Given the description of an element on the screen output the (x, y) to click on. 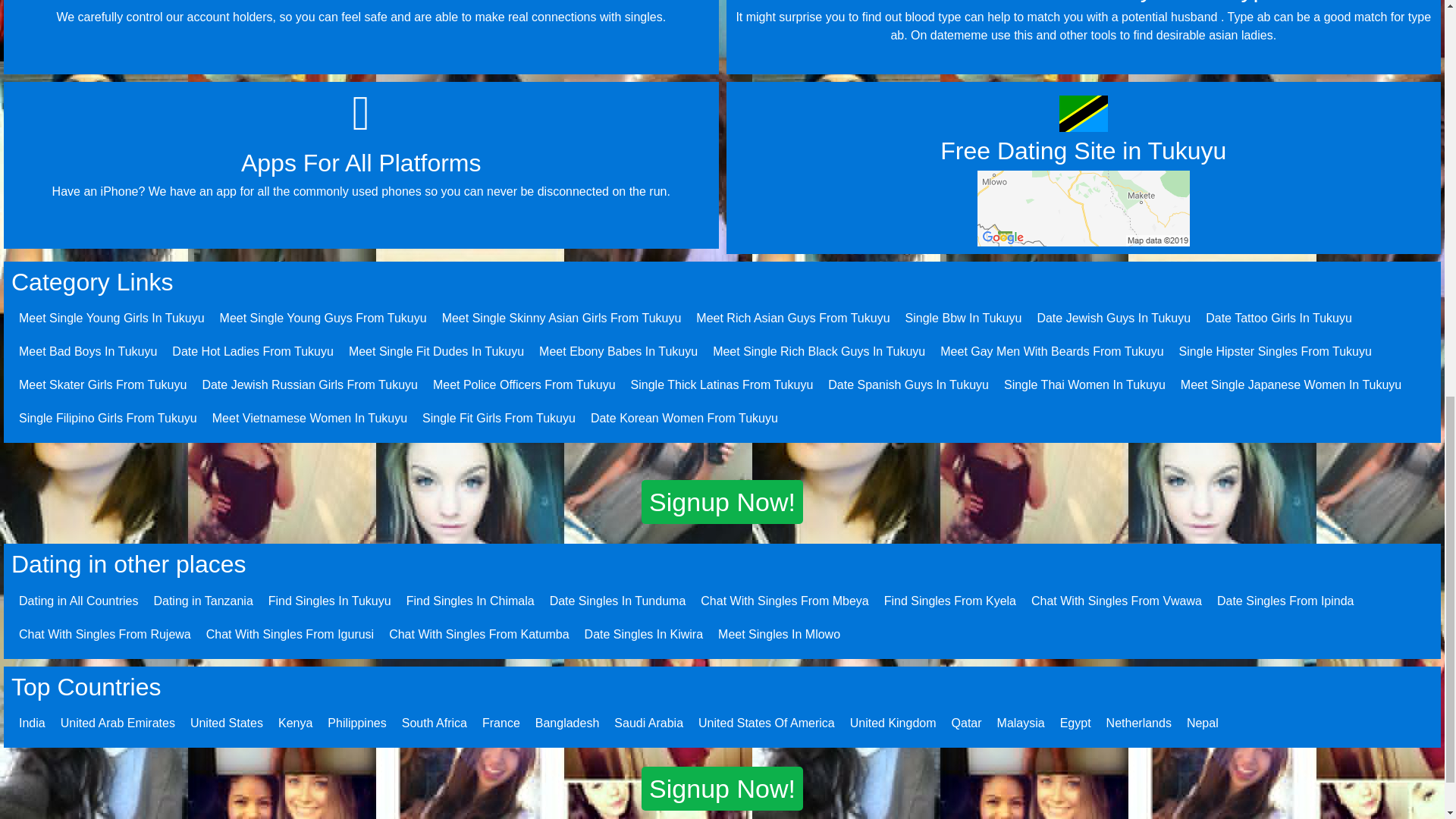
Meet Rich Asian Guys From Tukuyu (792, 318)
Meet Single Young Girls In Tukuyu (111, 318)
Meet Single Skinny Asian Girls From Tukuyu (561, 318)
Meet Single Young Guys From Tukuyu (322, 318)
